Given the description of an element on the screen output the (x, y) to click on. 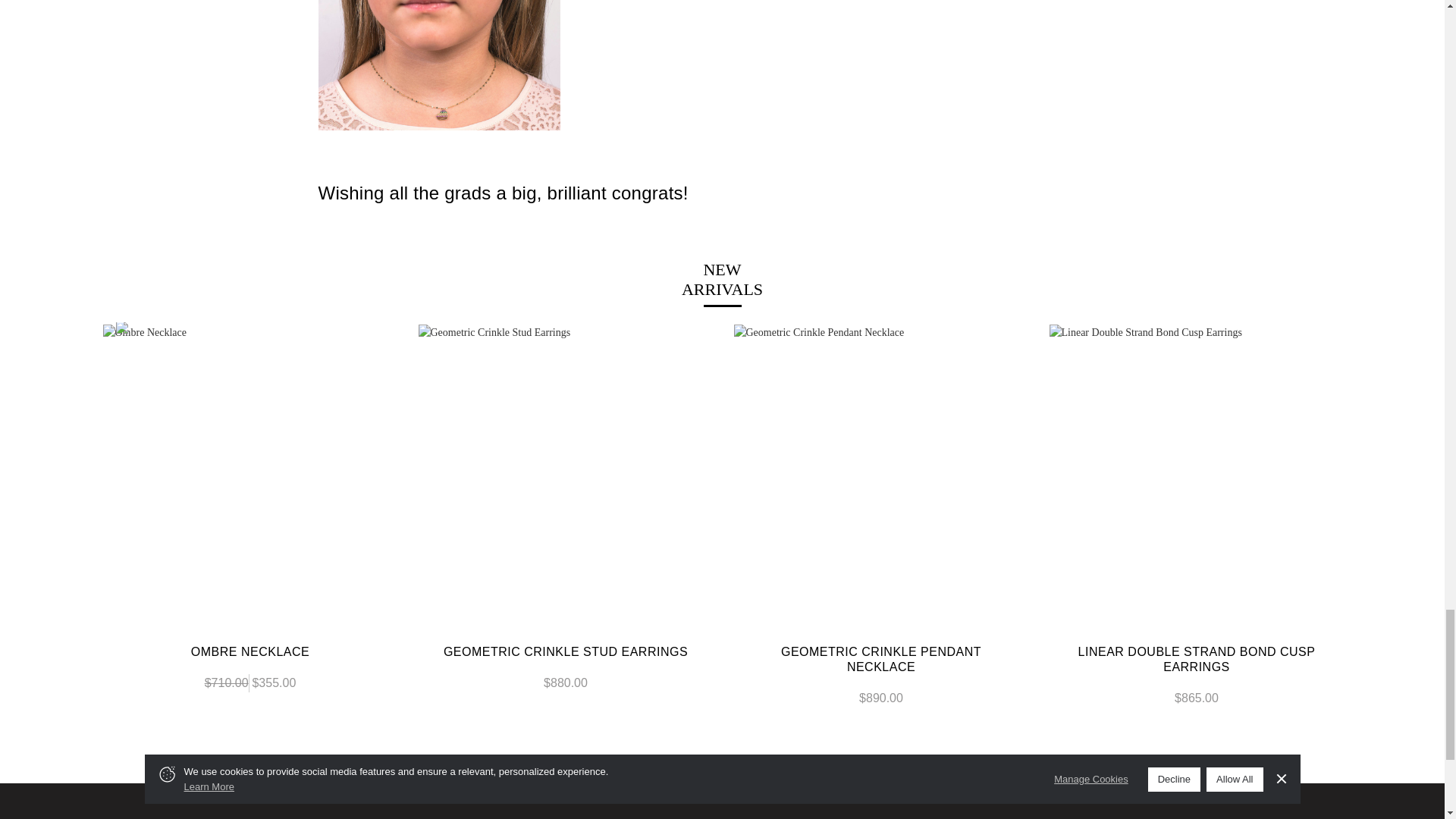
Ombre Necklace (250, 471)
Geometric Crinkle Pendant Necklace (881, 471)
Geometric Crinkle Stud Earrings (566, 471)
Linear Double Strand Bond Cusp Earrings (1196, 471)
